Given the description of an element on the screen output the (x, y) to click on. 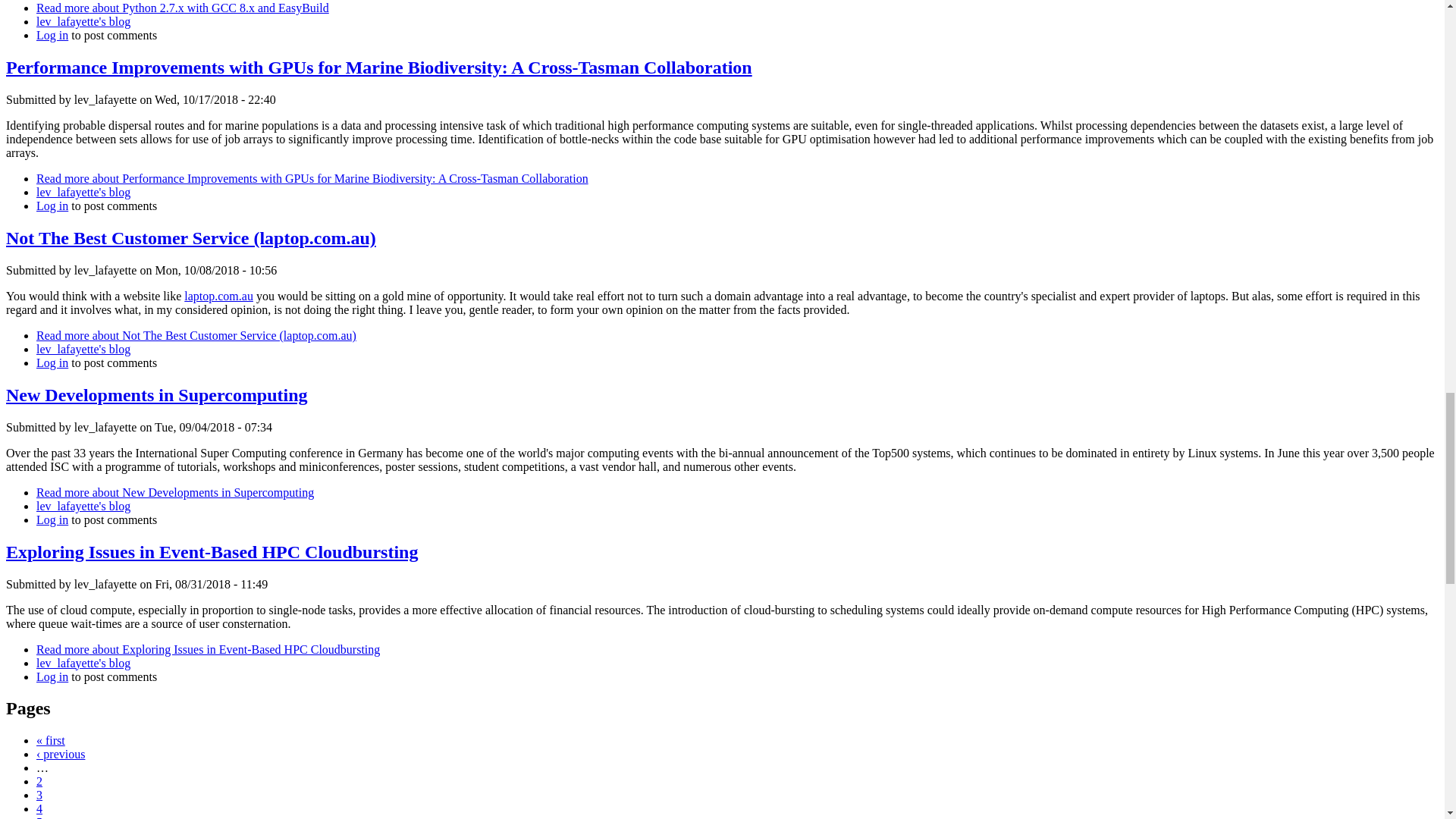
Python 2.7.x with GCC 8.x and EasyBuild (182, 7)
Read more about Python 2.7.x with GCC 8.x and EasyBuild (182, 7)
laptop.com.au (218, 295)
Log in (52, 34)
Log in (52, 205)
